Given the description of an element on the screen output the (x, y) to click on. 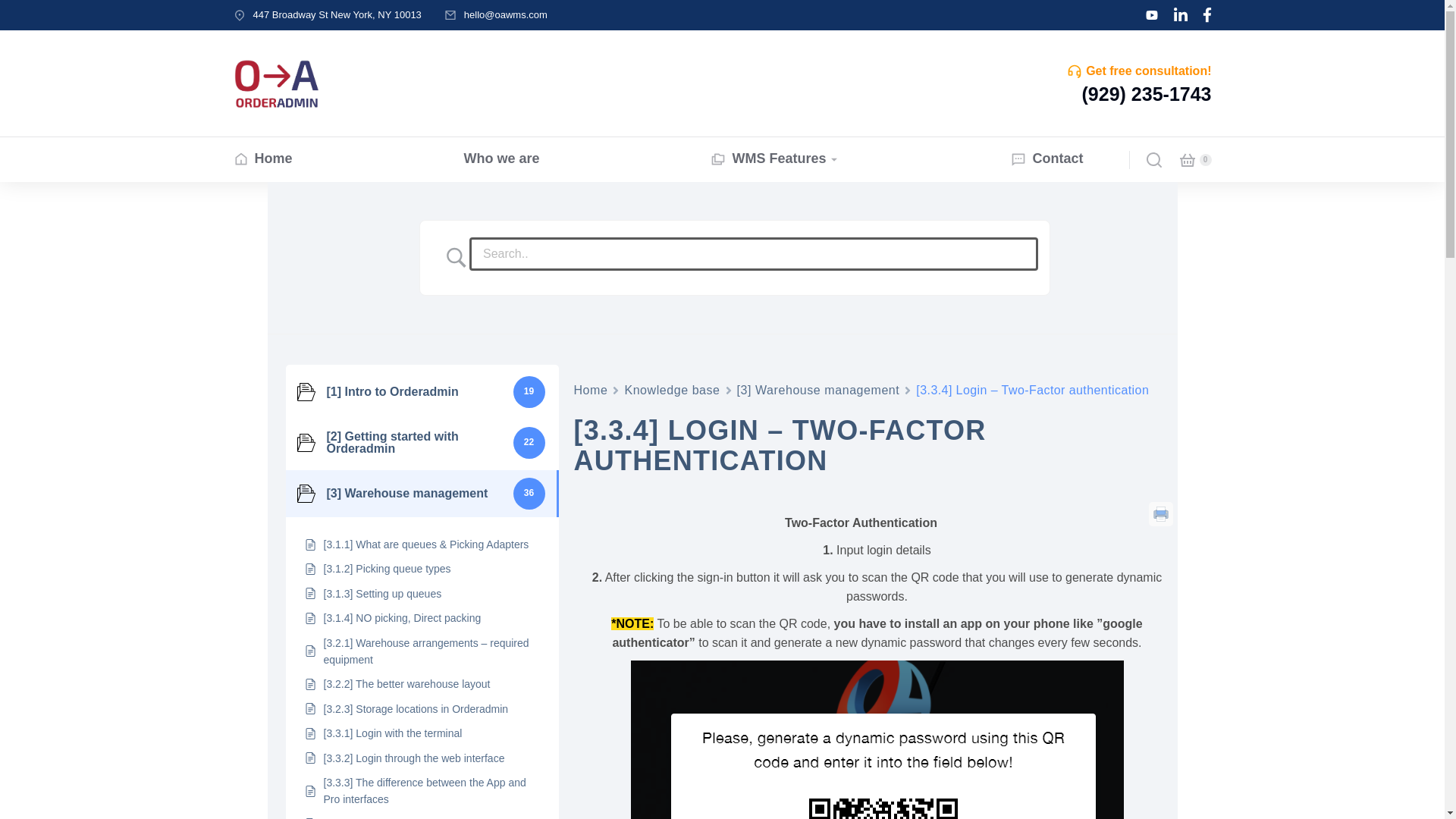
Contact (1046, 158)
Knowledge base (671, 390)
WMS Features (775, 158)
447 Broadway St New York, NY 10013 (337, 14)
Home (262, 158)
Who we are (500, 158)
Get free consultation! (1148, 70)
Home (590, 390)
